Given the description of an element on the screen output the (x, y) to click on. 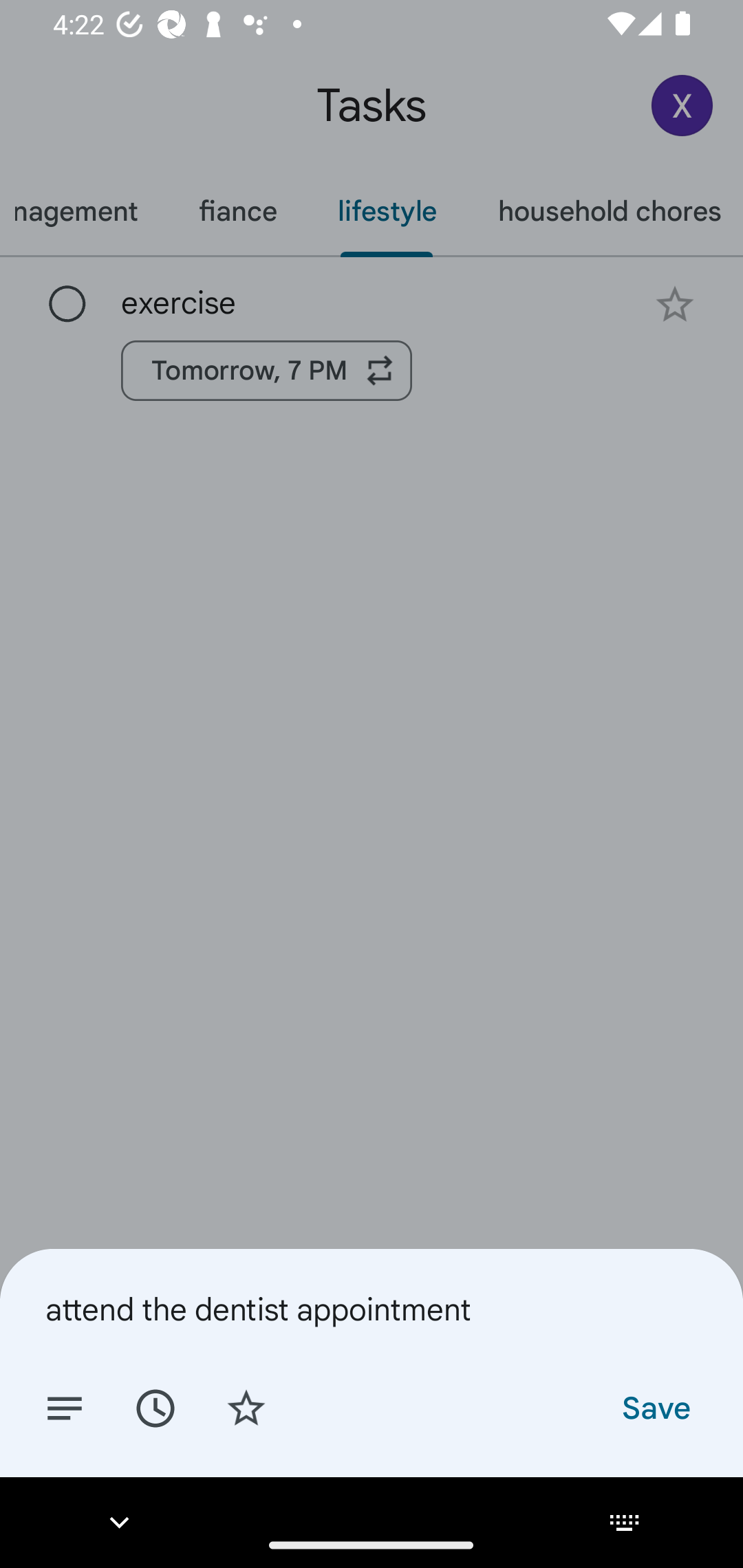
attend the dentist appointment (371, 1308)
Save (655, 1407)
Add details (64, 1407)
Set date/time (154, 1407)
Add star (245, 1407)
